Given the description of an element on the screen output the (x, y) to click on. 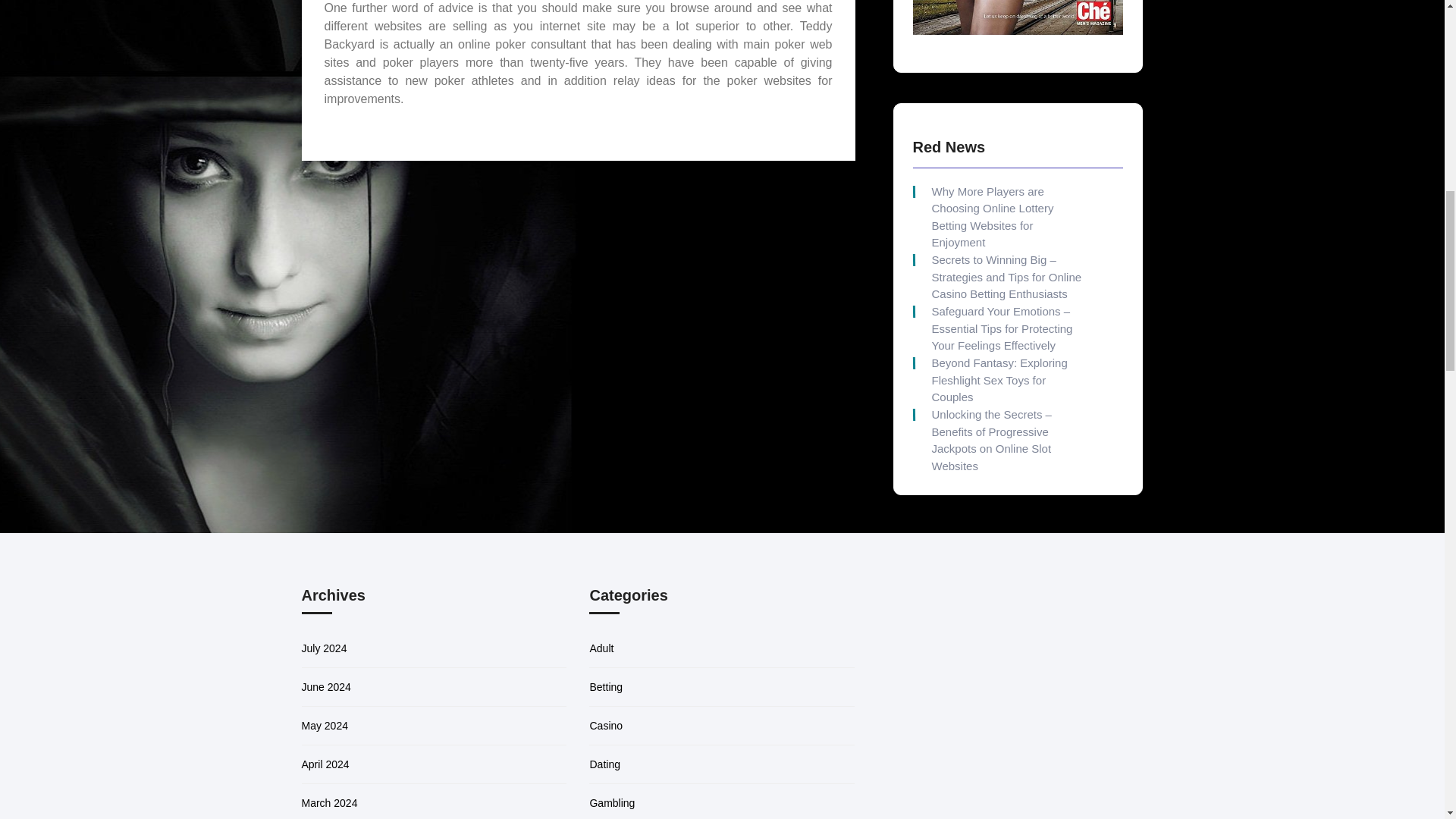
February 2024 (336, 818)
May 2024 (324, 707)
Beyond Fantasy: Exploring Fleshlight Sex Toys for Couples (1005, 312)
July 2024 (324, 630)
June 2024 (325, 669)
March 2024 (329, 785)
April 2024 (325, 746)
